Given the description of an element on the screen output the (x, y) to click on. 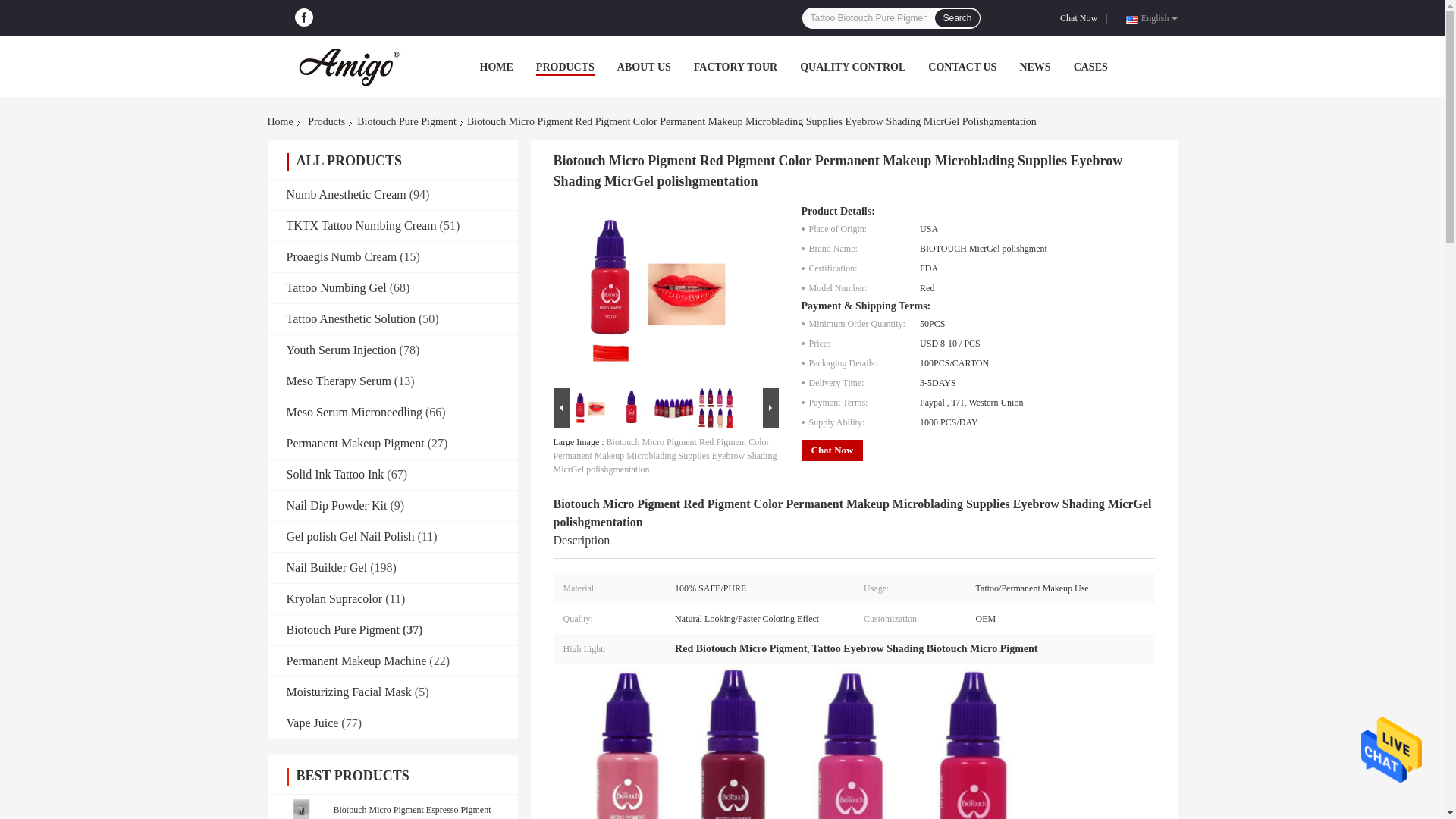
CONTACT US (961, 66)
Search (956, 18)
TKTX Tattoo Numbing Cream (361, 225)
Biotouch Pure Pigment (406, 121)
PRODUCTS (564, 66)
AMIGO BEAUTY MEDICAL CO., LIMITED Facebook (303, 17)
NEWS (1034, 66)
Numb Anesthetic Cream (346, 194)
QUALITY CONTROL (852, 66)
FACTORY TOUR (735, 66)
